Given the description of an element on the screen output the (x, y) to click on. 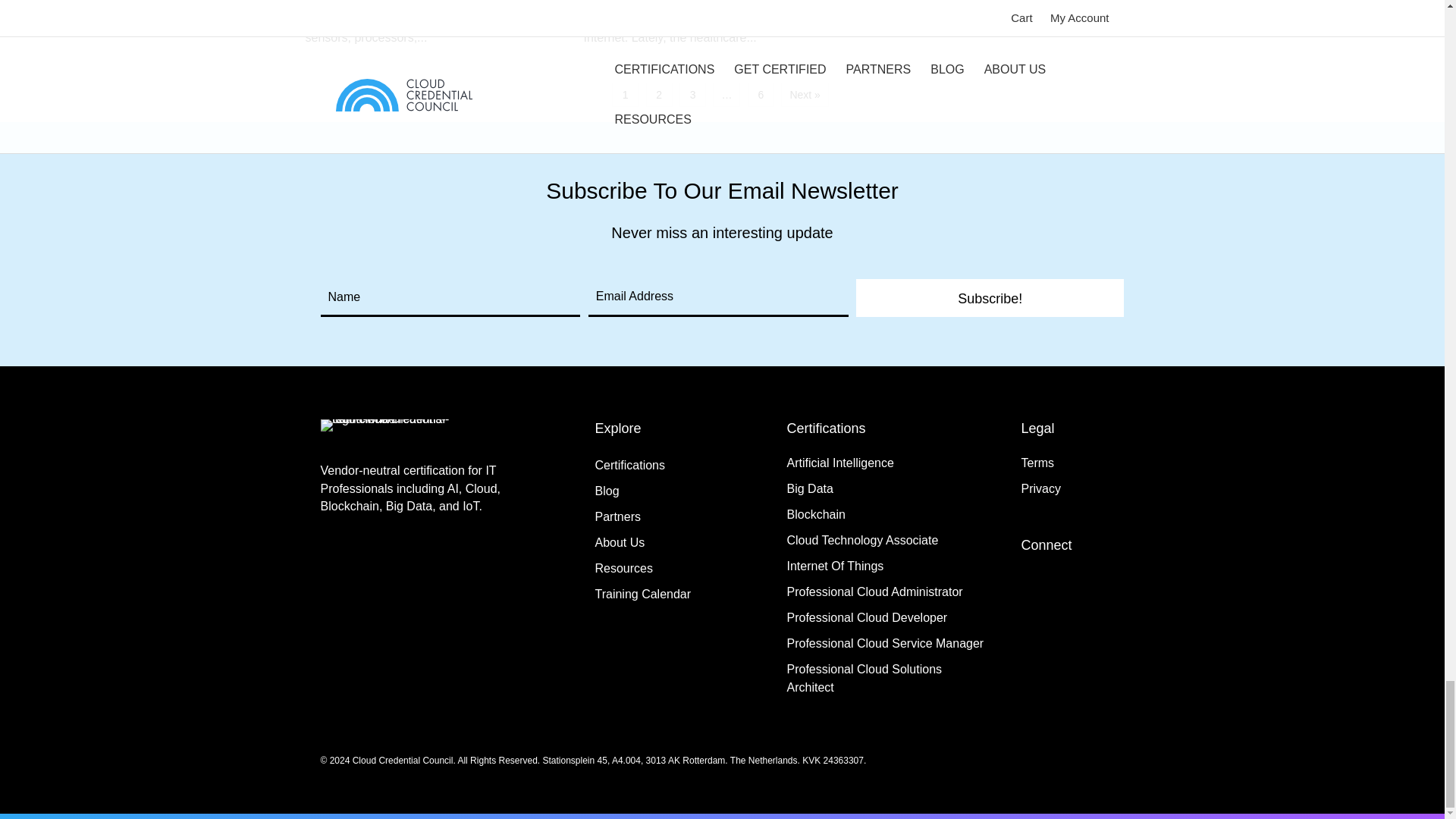
Knowledge byte: Building Blocks of IoT Architecture (442, 34)
